Given the description of an element on the screen output the (x, y) to click on. 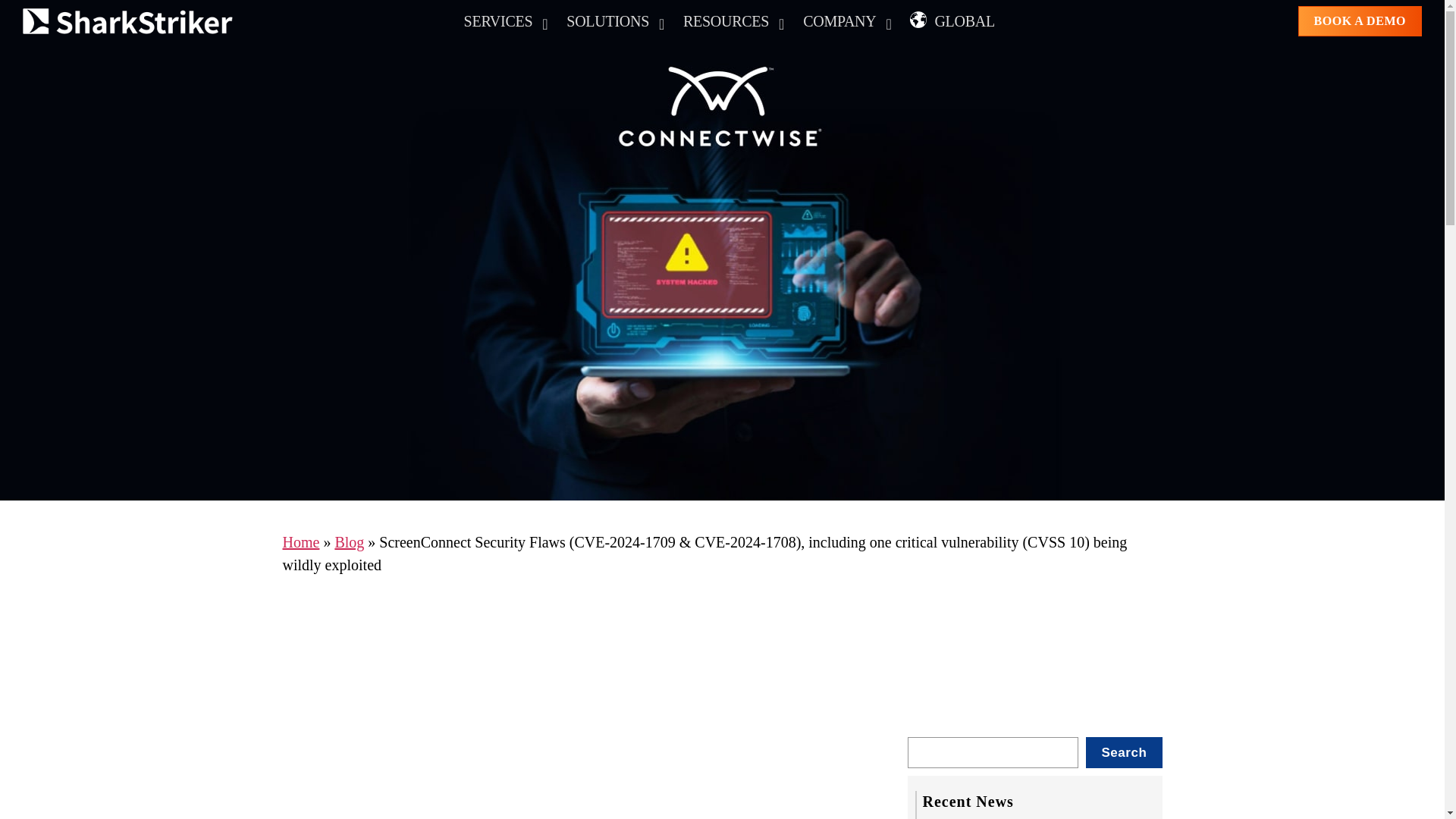
SERVICES (730, 21)
SOLUTIONS (499, 21)
